Given the description of an element on the screen output the (x, y) to click on. 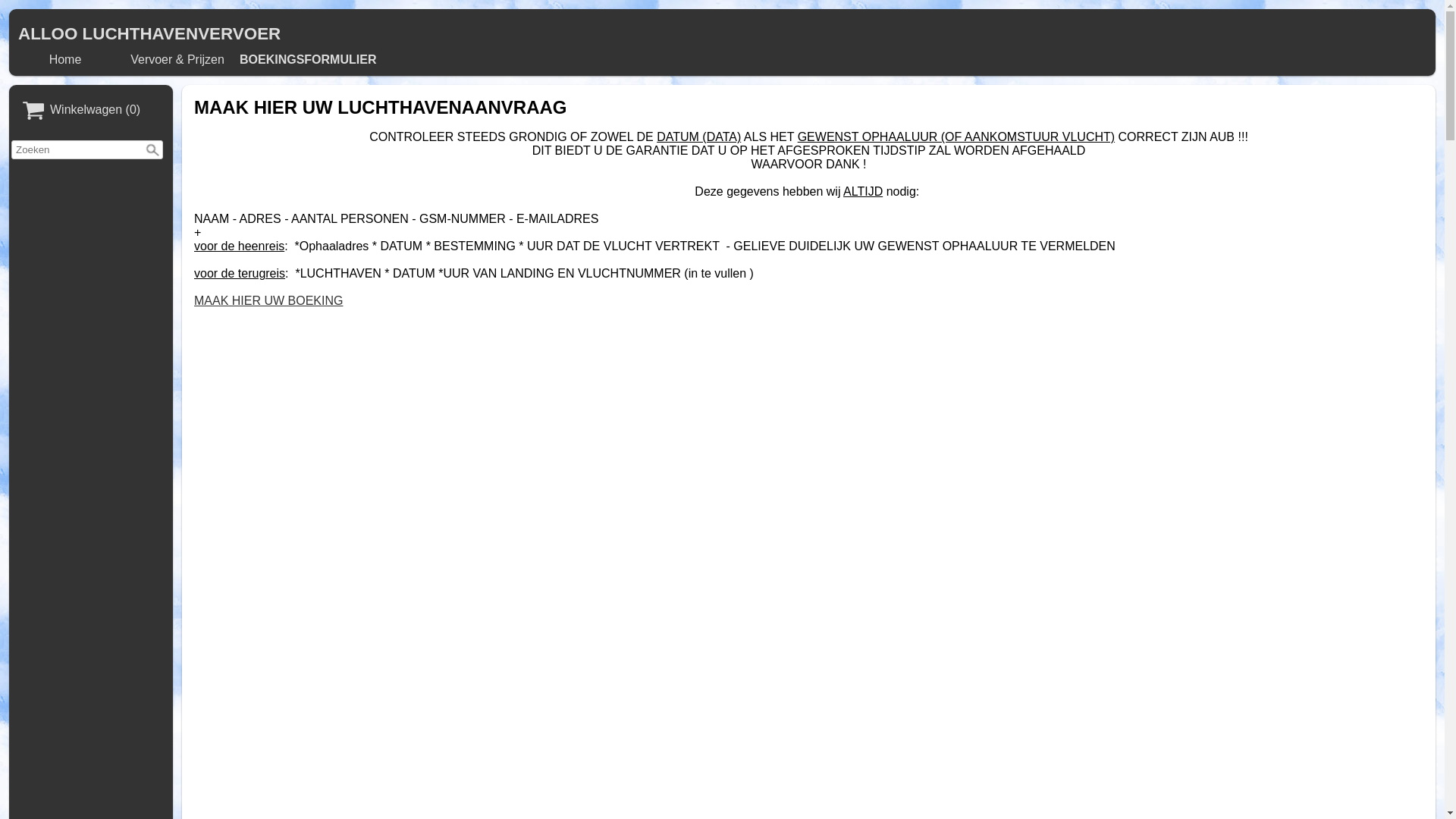
WinkelwagenWinkelwagen (0) Element type: text (90, 110)
Vervoer & Prijzen Element type: text (177, 59)
ALLOO LUCHTHAVENVERVOER Element type: text (149, 33)
MAAK HIER UW BOEKING Element type: text (268, 300)
BOEKINGSFORMULIER Element type: text (307, 59)
Home Element type: text (64, 59)
